Given the description of an element on the screen output the (x, y) to click on. 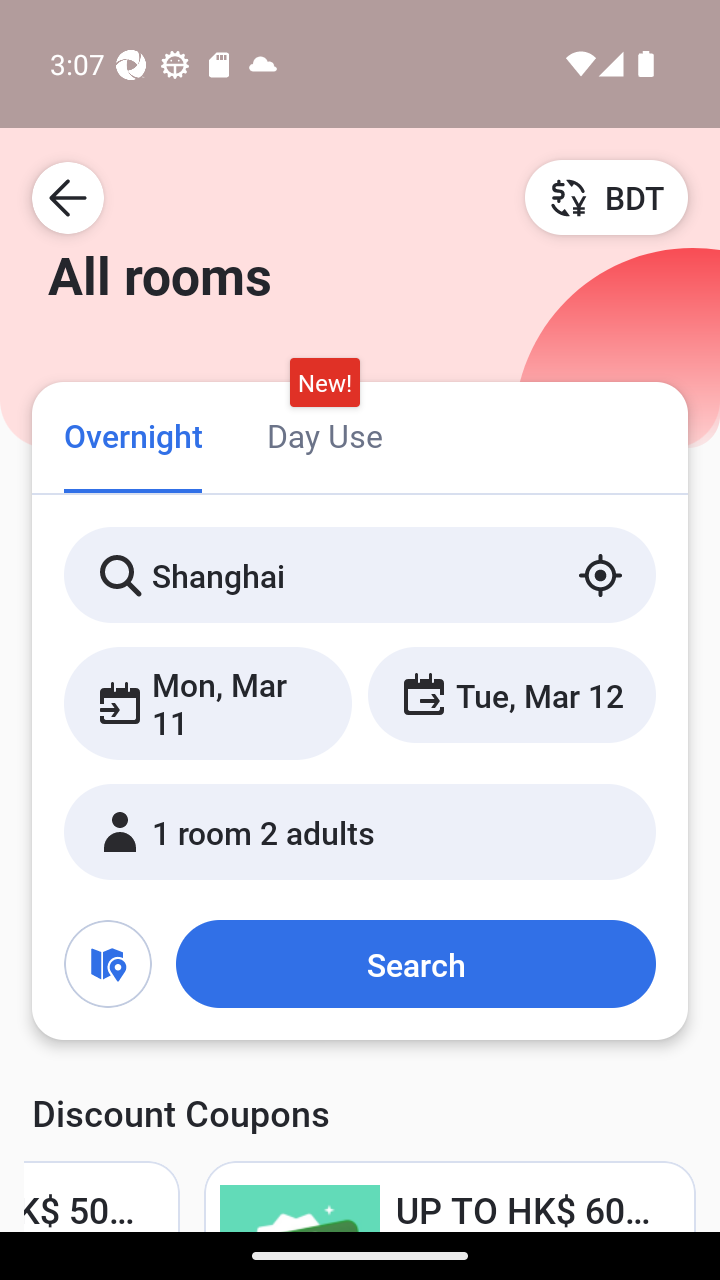
BDT (606, 197)
New! (324, 383)
Day Use (324, 434)
Shanghai (359, 575)
Mon, Mar 11 (208, 703)
Tue, Mar 12 (511, 694)
1 room 2 adults (359, 831)
Search (415, 964)
